Given the description of an element on the screen output the (x, y) to click on. 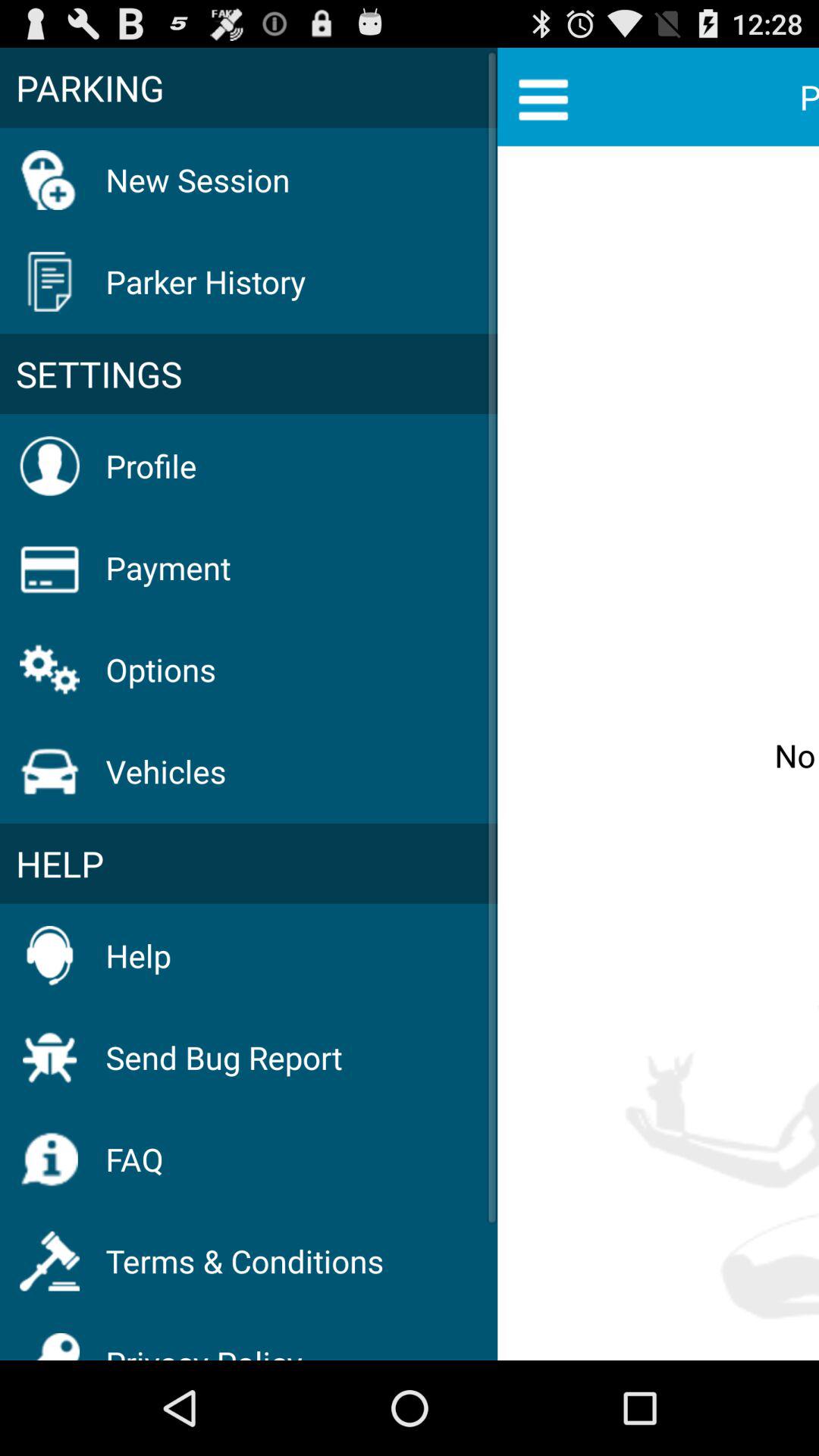
turn on send bug report item (223, 1056)
